Given the description of an element on the screen output the (x, y) to click on. 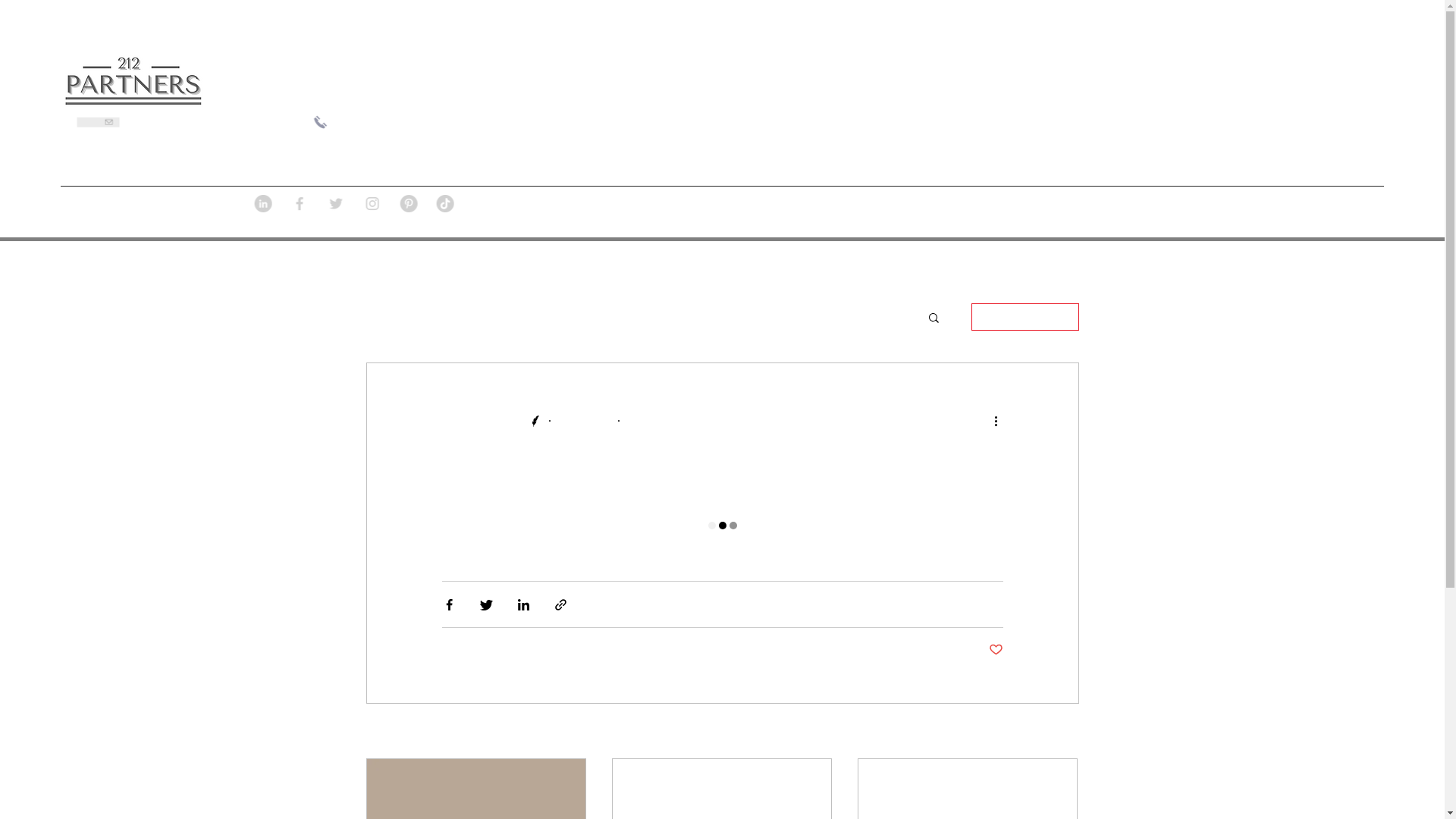
1 like. Post not marked as liked
1 Element type: text (991, 649)
Log in / Sign up Element type: text (1024, 316)
admin@212partnersorlando.com Element type: text (212, 122)
All Posts Element type: text (384, 316)
HOME Element type: text (980, 211)
Send Element type: text (131, 129)
BLOG Element type: text (1046, 211)
See All Element type: text (1063, 732)
